Given the description of an element on the screen output the (x, y) to click on. 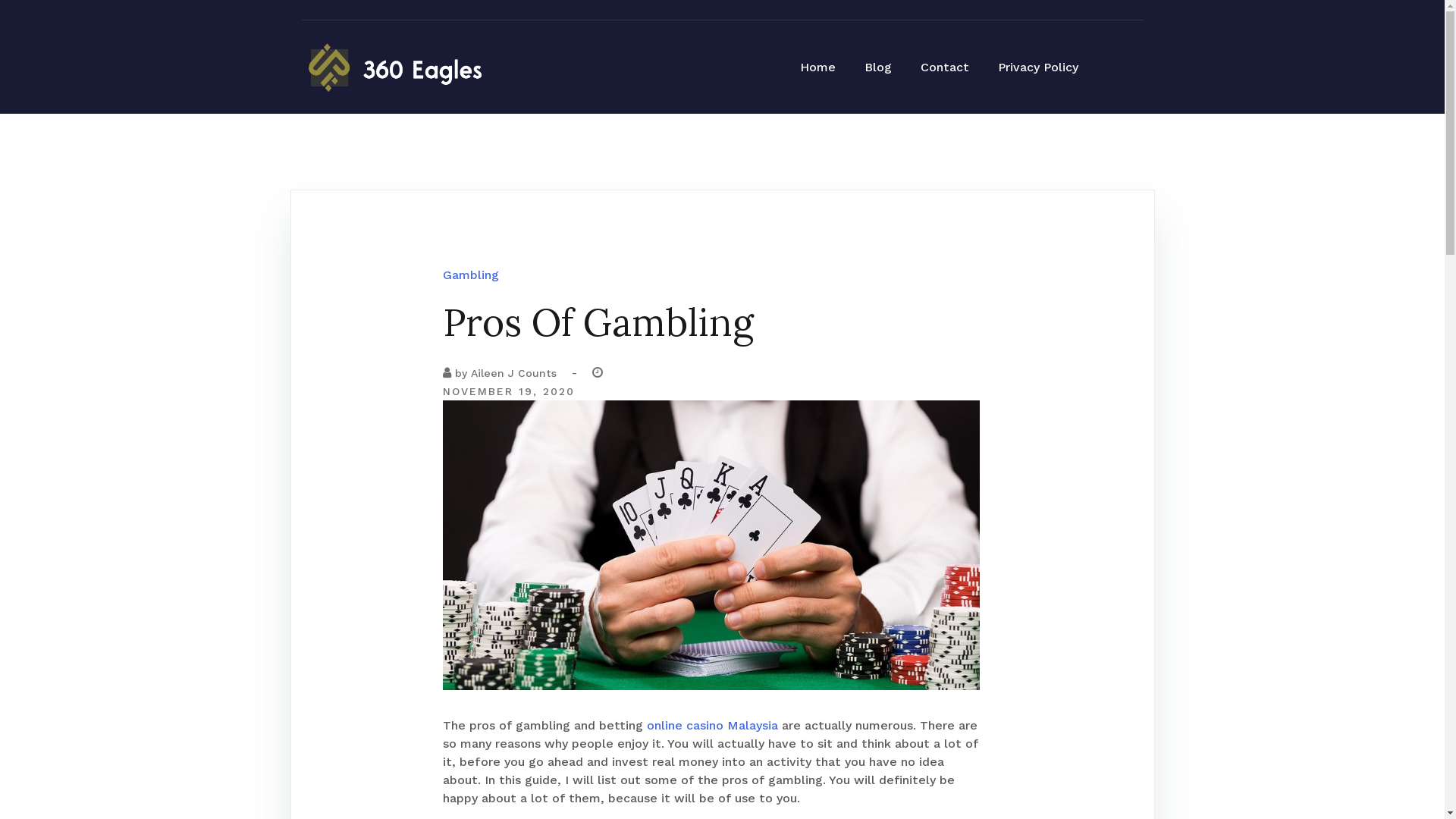
online casino Malaysia Element type: text (711, 725)
Blog Element type: text (877, 68)
Home Element type: text (816, 68)
NOVEMBER 19, 2020 Element type: text (508, 391)
Aileen J Counts Element type: text (512, 373)
Privacy Policy Element type: text (1037, 68)
Gambling Element type: text (470, 274)
Contact Element type: text (944, 68)
